Given the description of an element on the screen output the (x, y) to click on. 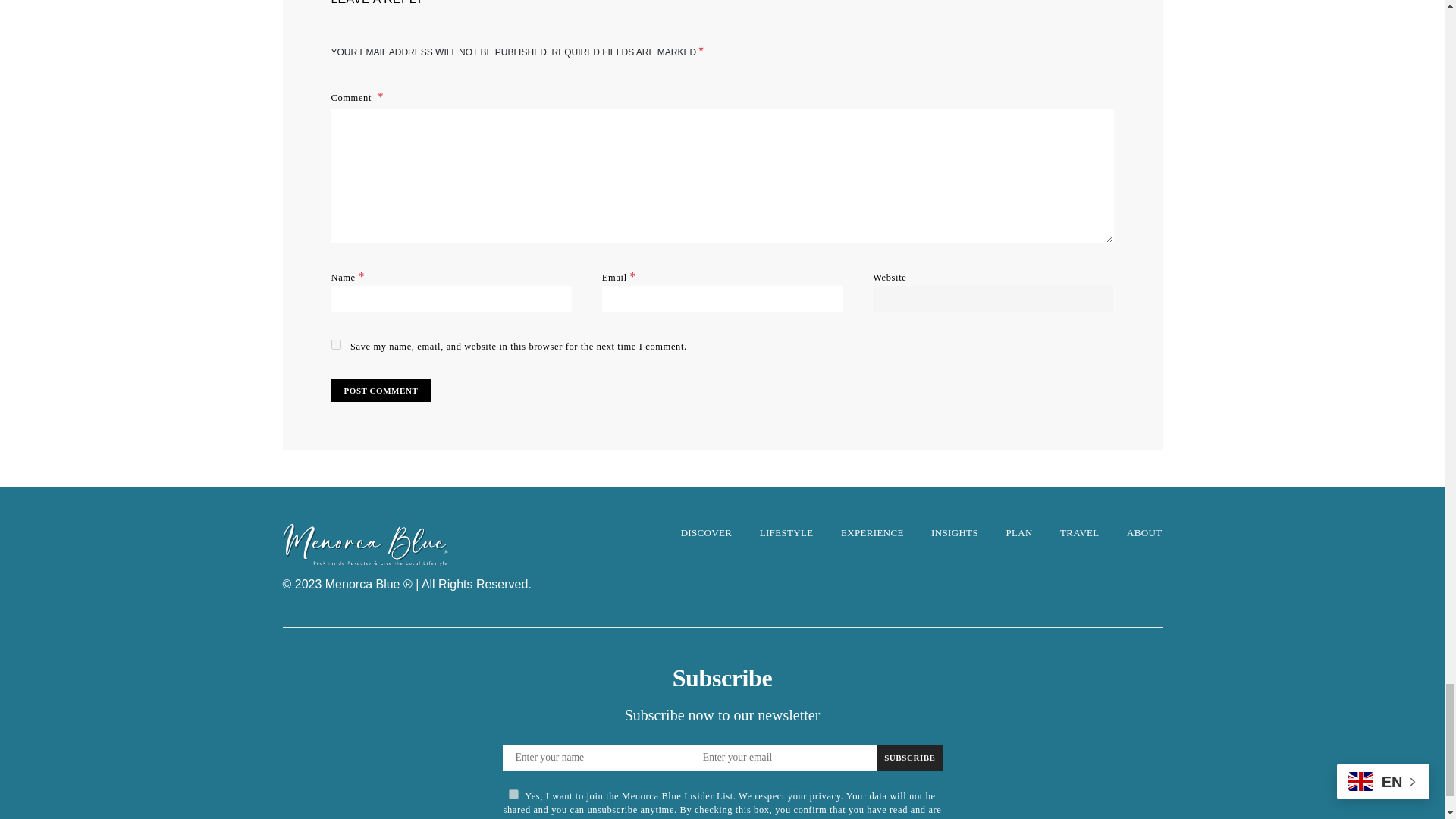
yes (335, 344)
on (513, 794)
Post Comment (380, 390)
